Given the description of an element on the screen output the (x, y) to click on. 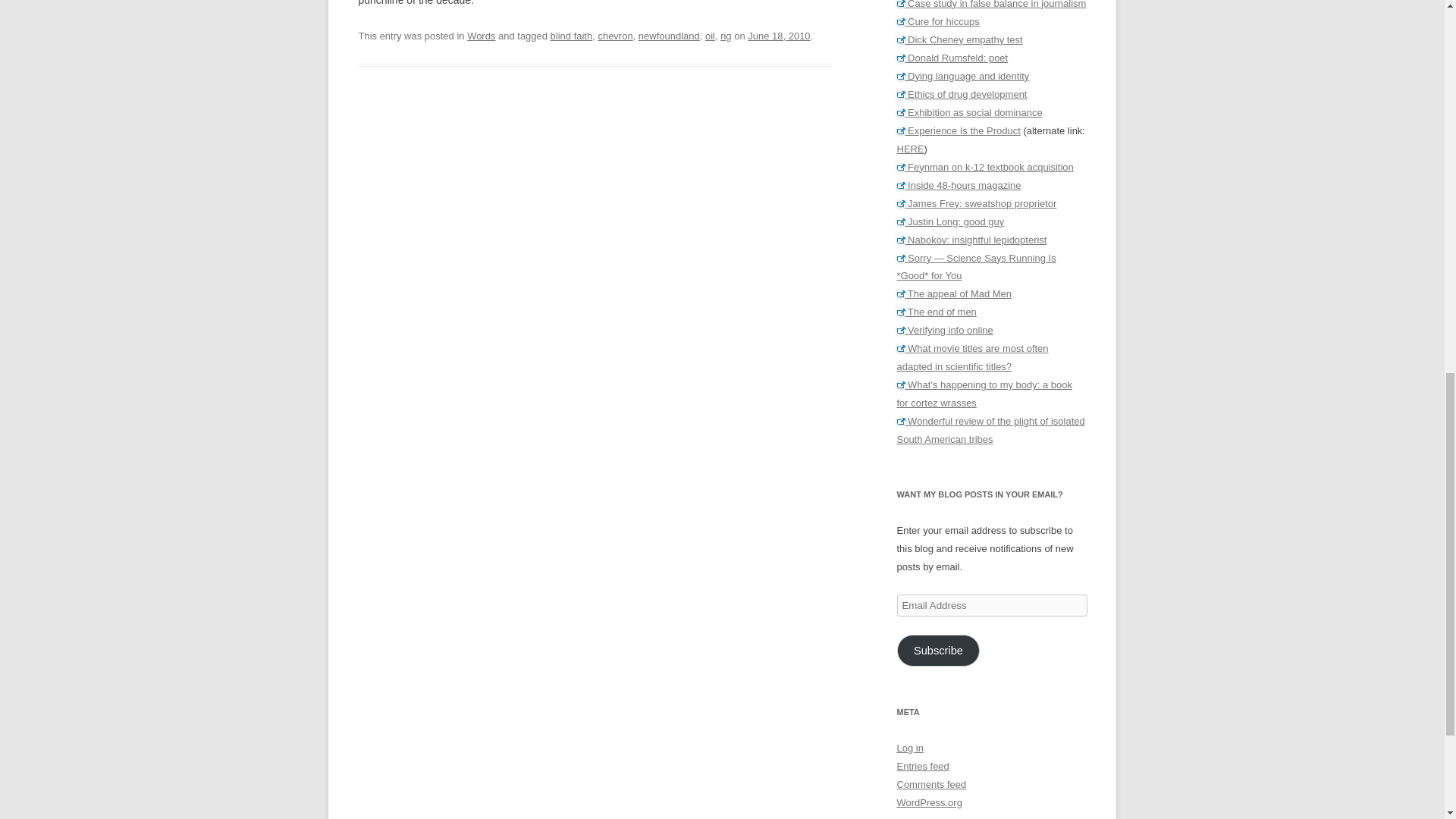
Ethics of drug development (961, 93)
Cure for hiccups (937, 21)
Dying language and identity (962, 75)
June 18, 2010 (778, 35)
chevron (613, 35)
rig (725, 35)
HERE (909, 148)
Donald Rumsfeld: poet (951, 57)
Exhibition as social dominance (969, 112)
newfoundland (669, 35)
James Frey: sweatshop proprietor (976, 203)
blind faith (571, 35)
6:54 PM (778, 35)
Feynman on k-12 textbook acquisition (984, 166)
Inside 48-hours magazine (958, 184)
